Given the description of an element on the screen output the (x, y) to click on. 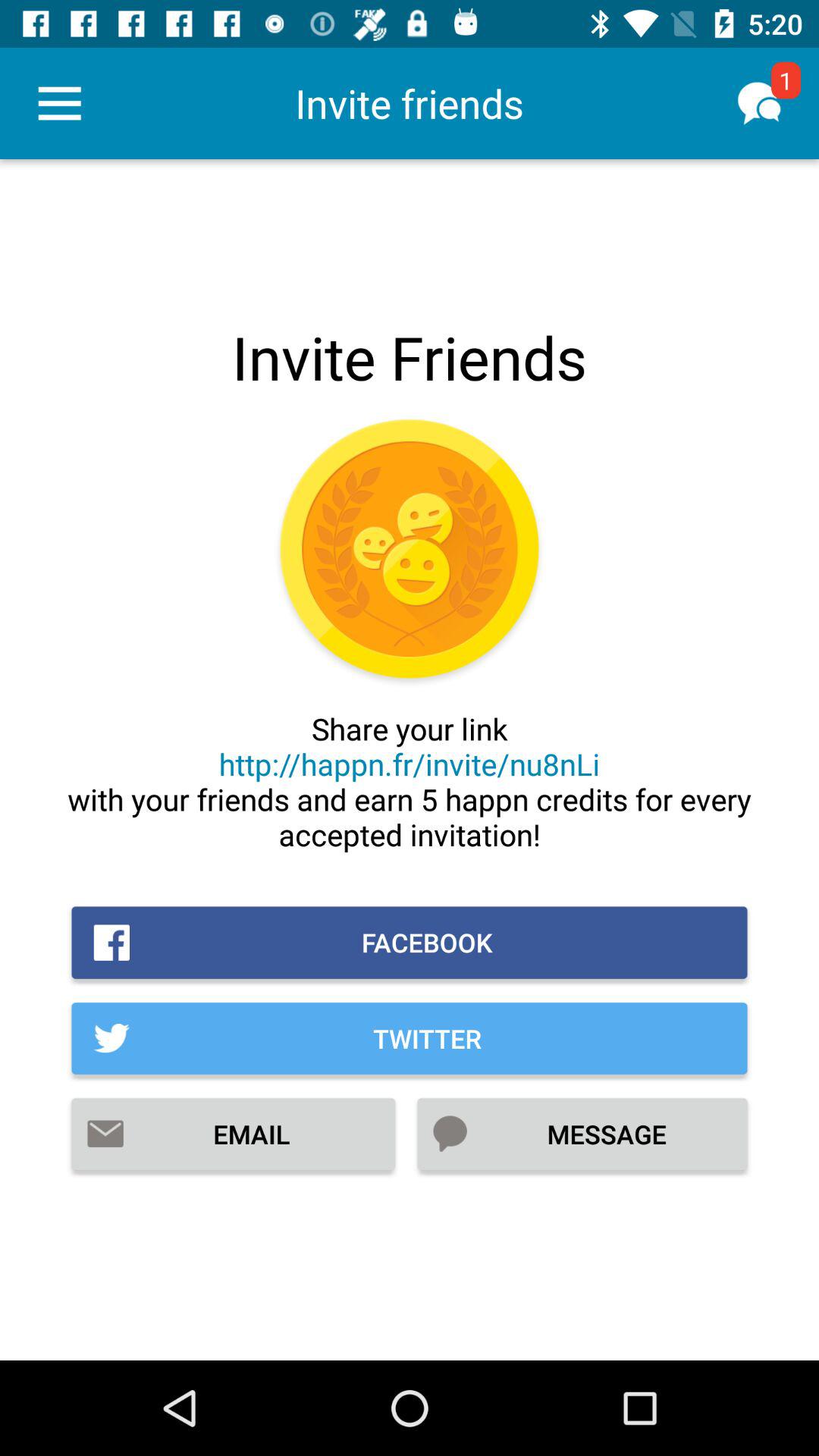
select the item to the left of the message item (233, 1133)
